Given the description of an element on the screen output the (x, y) to click on. 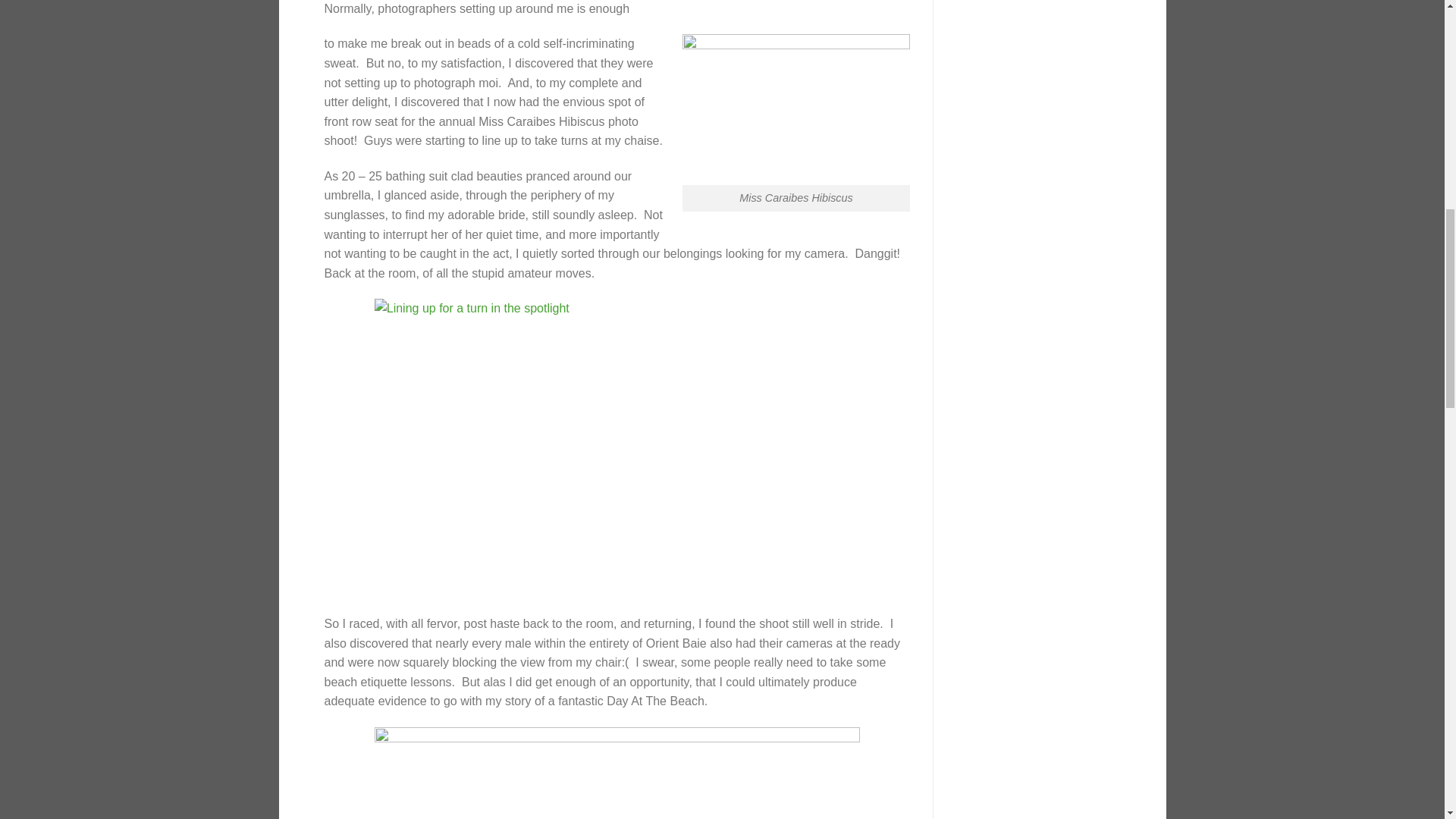
Beauty 3 (617, 773)
